Given the description of an element on the screen output the (x, y) to click on. 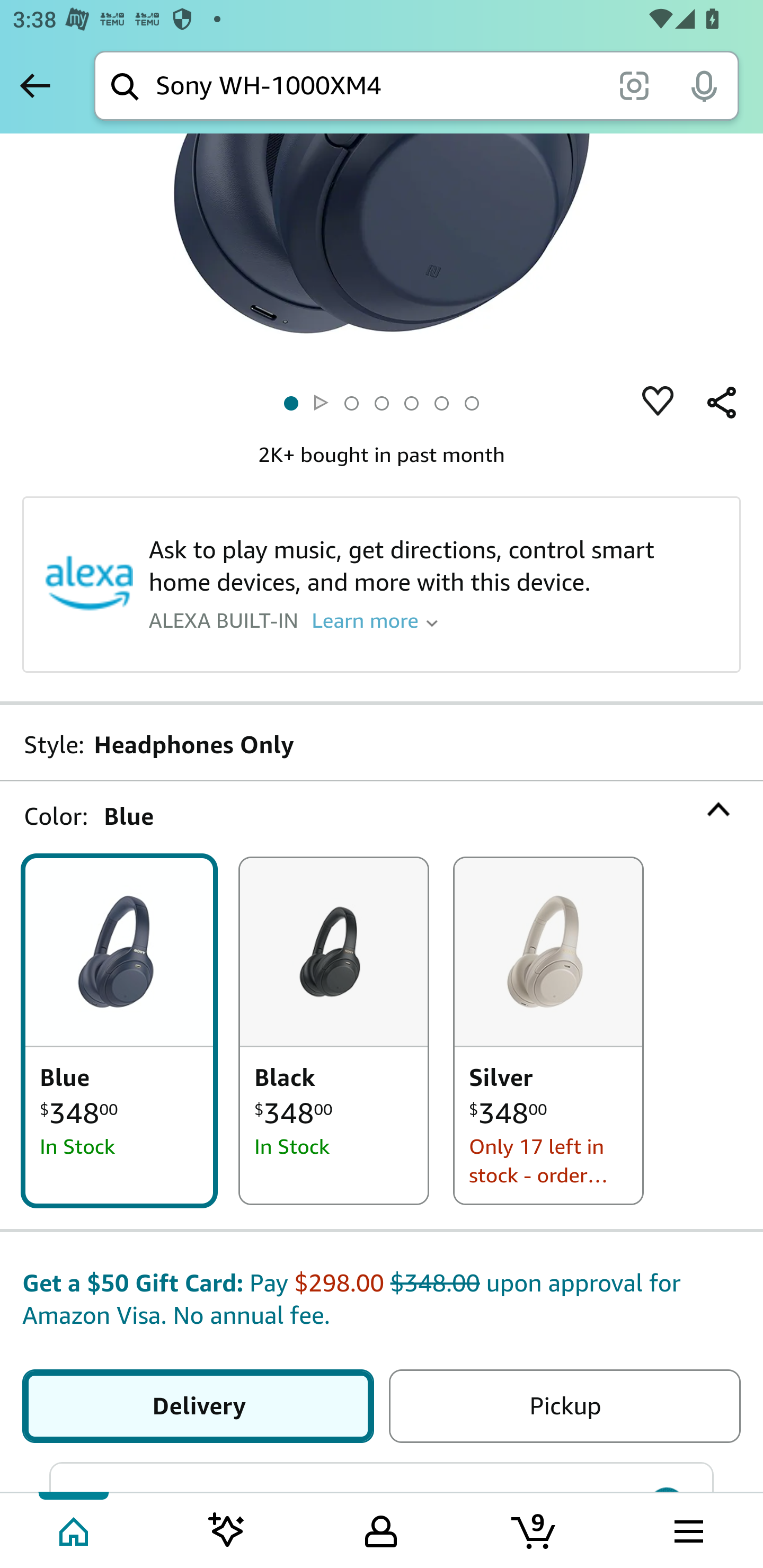
Back (35, 85)
scan it (633, 85)
Heart to save an item to your default list (657, 403)
Learn more (374, 619)
Blue $348.00 In Stock (118, 1030)
Black $348.00 In Stock (333, 1030)
Silver $348.00 Only 17 left in stock - order soon. (548, 1030)
Delivery (201, 1407)
Pickup (560, 1407)
Home Tab 1 of 5 (75, 1529)
Inspire feed Tab 2 of 5 (227, 1529)
Your Amazon.com Tab 3 of 5 (380, 1529)
Cart 9 items Tab 4 of 5 9 (534, 1529)
Browse menu Tab 5 of 5 (687, 1529)
